Given the description of an element on the screen output the (x, y) to click on. 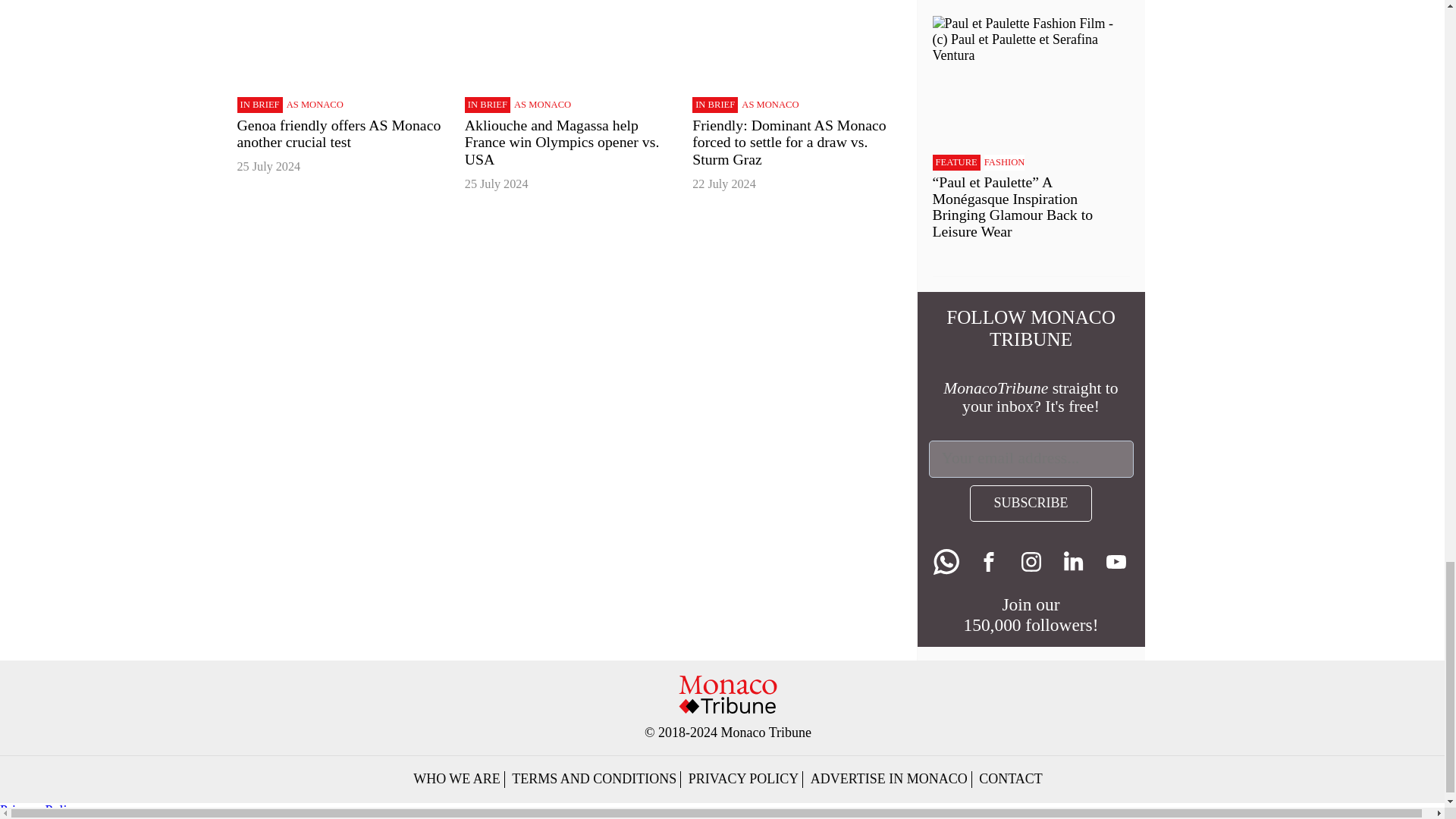
Subscribe (1029, 503)
